Given the description of an element on the screen output the (x, y) to click on. 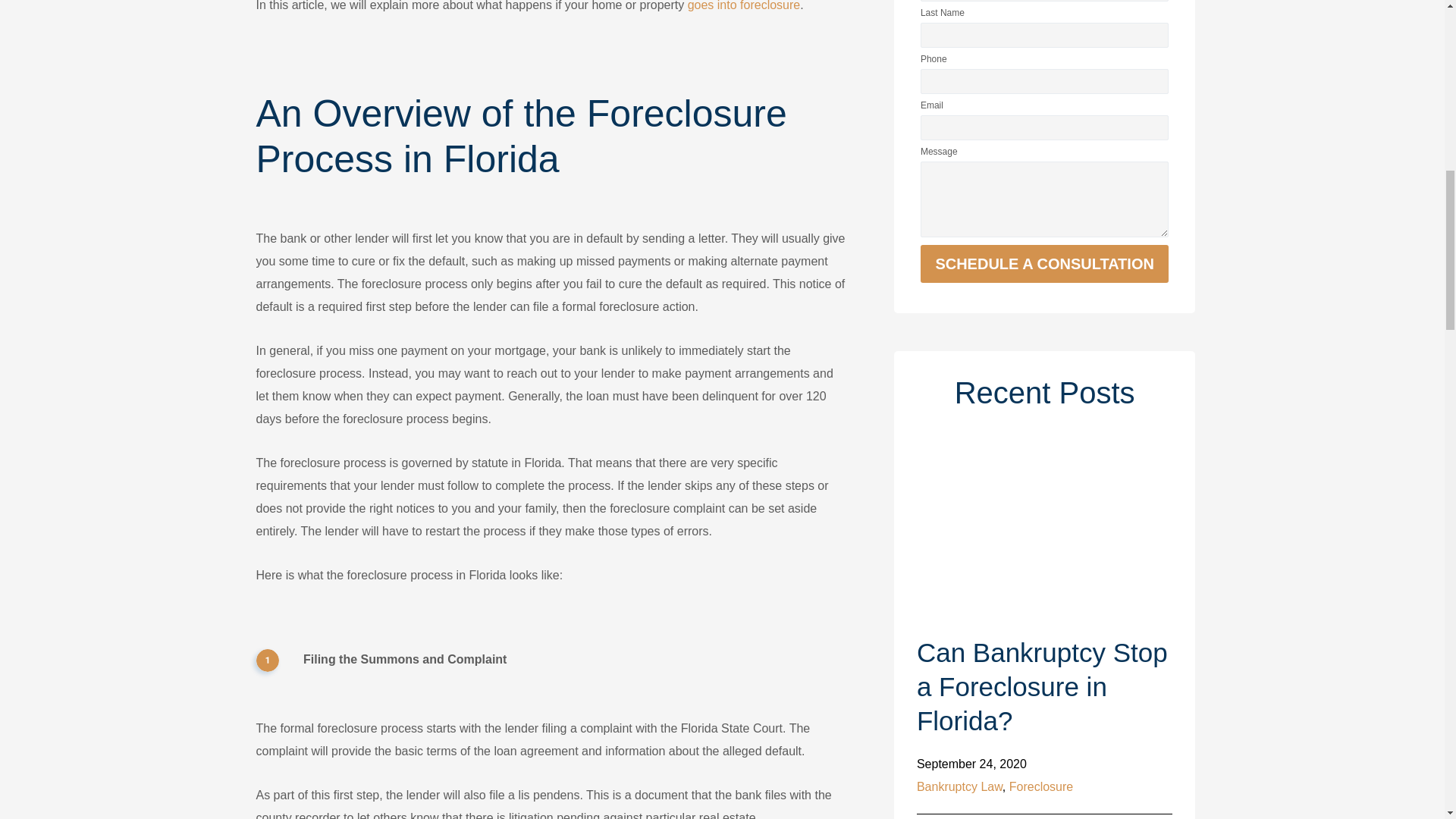
goes into foreclosure (743, 5)
